Given the description of an element on the screen output the (x, y) to click on. 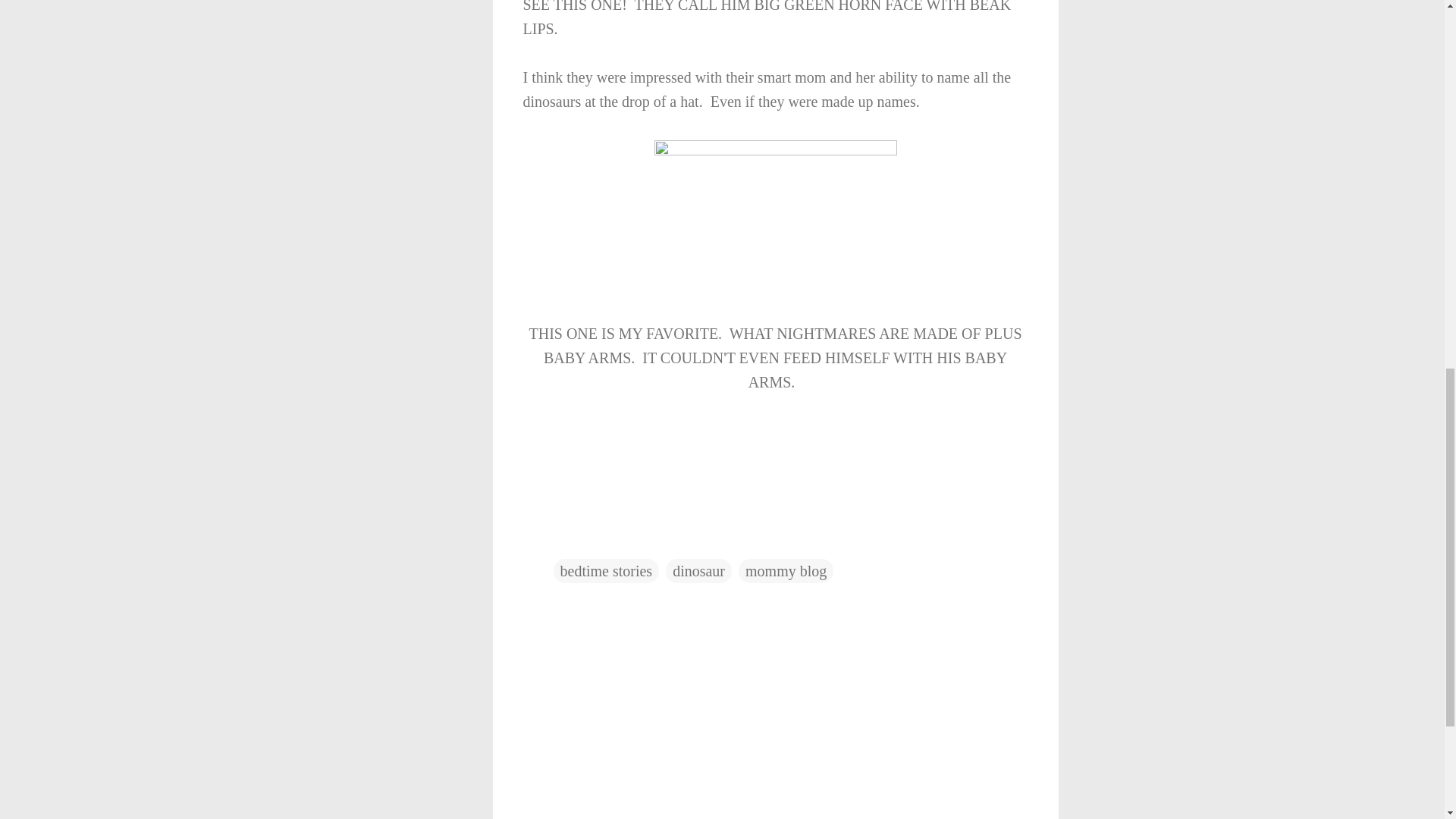
bedtime stories (606, 570)
dinosaur (698, 570)
Email Post (562, 540)
mommy blog (785, 570)
